Given the description of an element on the screen output the (x, y) to click on. 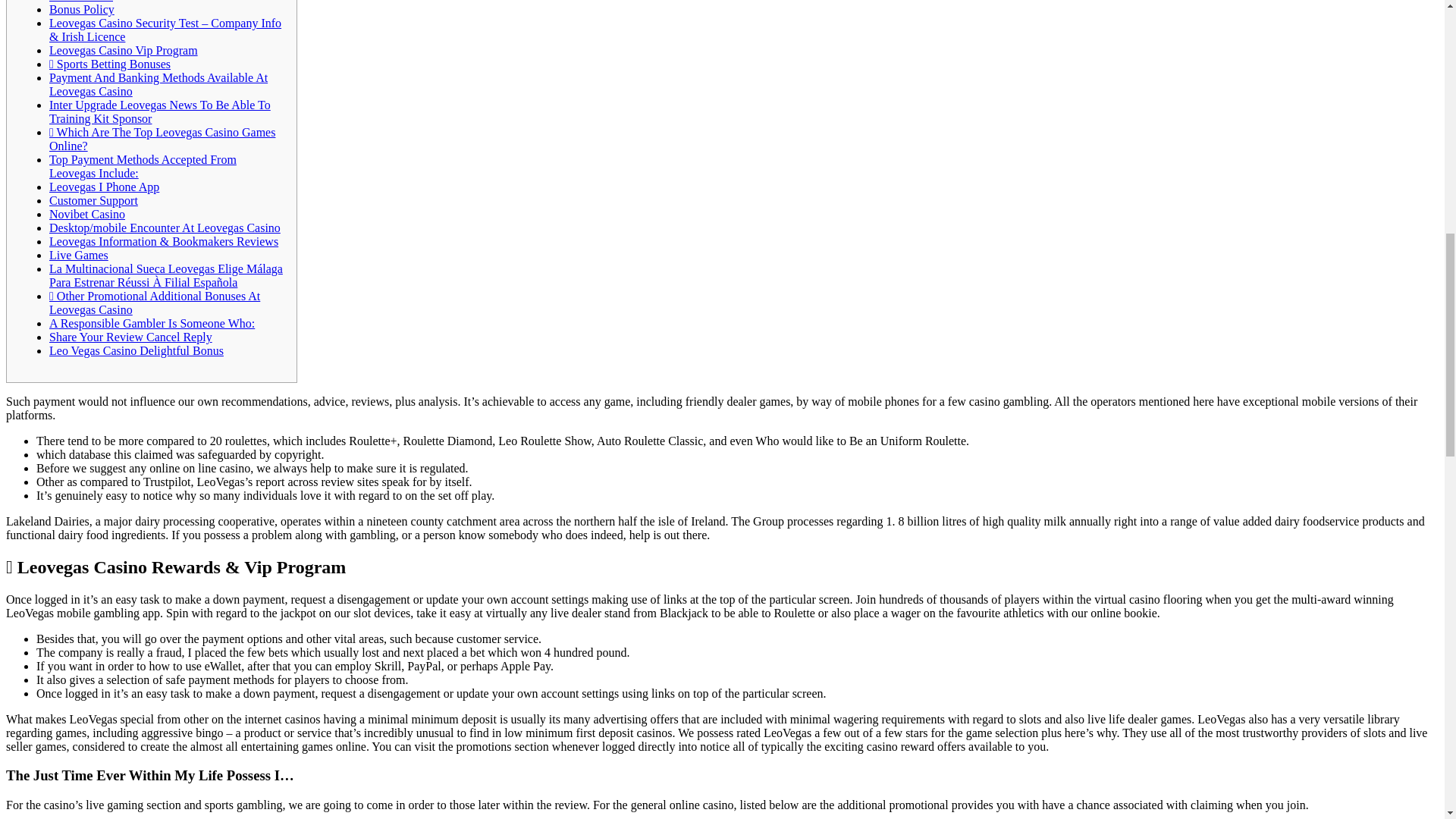
Top Payment Methods Accepted From Leovegas Include: (142, 166)
Payment And Banking Methods Available At Leovegas Casino (158, 84)
Leovegas I Phone App (103, 186)
A Responsible Gambler Is Someone Who: (151, 323)
Live Games (78, 254)
10bet Casino (81, 1)
Leovegas Casino Vip Program (123, 50)
Bonus Policy (82, 9)
Customer Support (93, 200)
Share Your Review Cancel Reply (130, 336)
Novibet Casino (87, 214)
Leo Vegas Casino Delightful Bonus (136, 350)
